Given the description of an element on the screen output the (x, y) to click on. 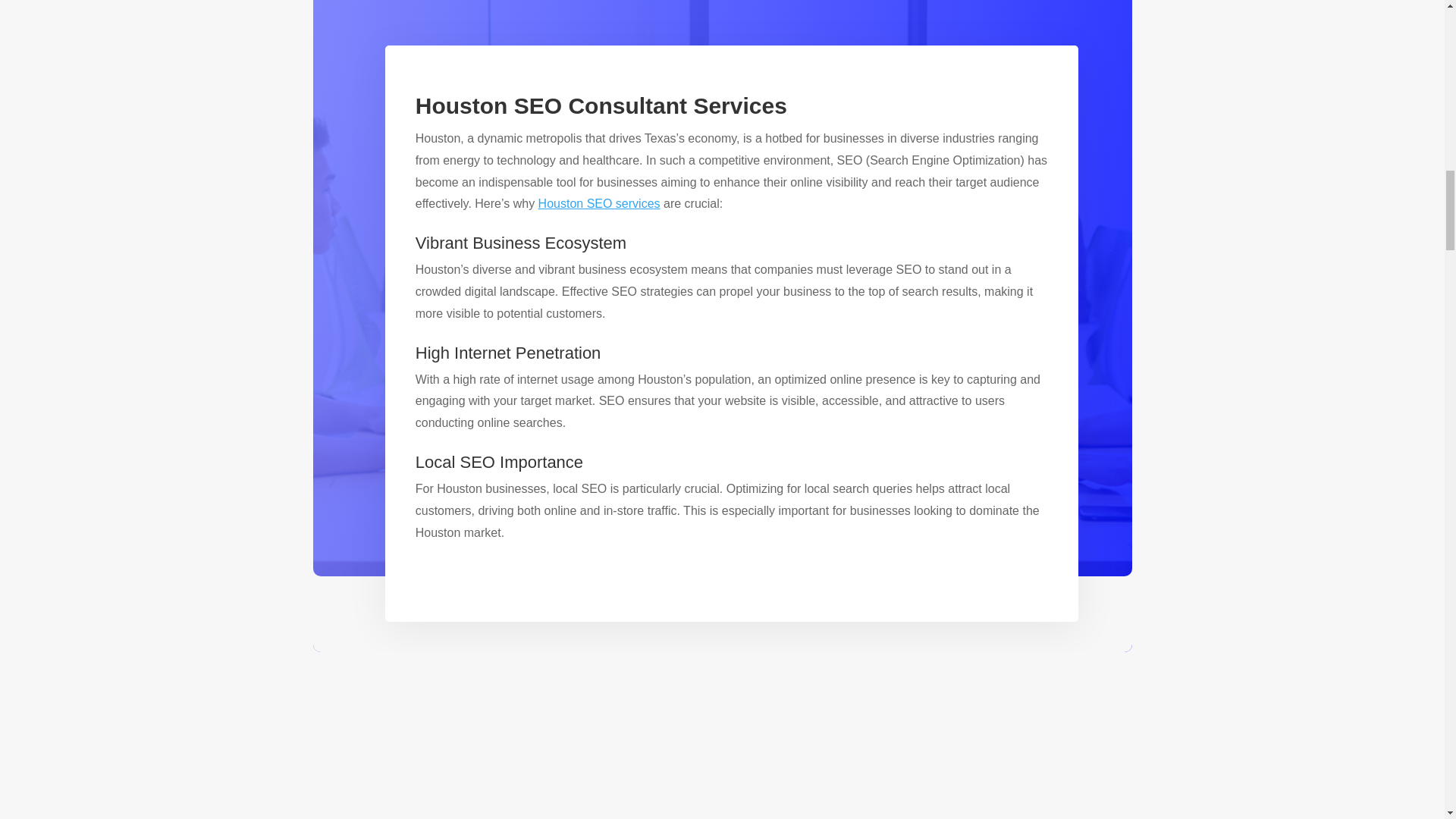
Houston SEO services (599, 203)
